Given the description of an element on the screen output the (x, y) to click on. 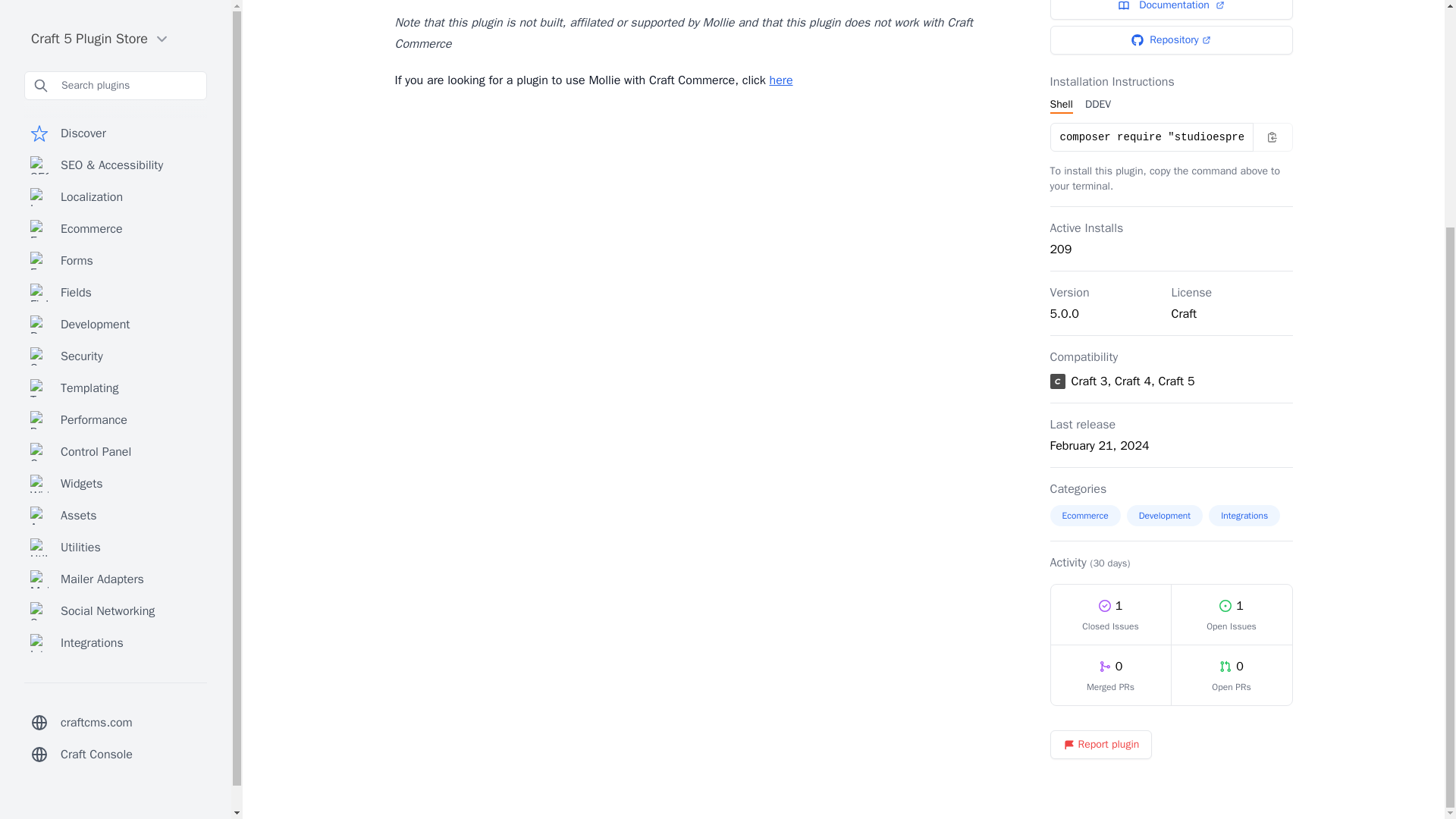
Templating (115, 82)
Performance (115, 114)
Integrations (1243, 515)
Security plugins for Craft CMS (115, 51)
Mailer Adapters (115, 274)
Development (115, 19)
here (781, 79)
Utilities (115, 242)
Ecommerce (1084, 515)
Templating plugins for Craft CMS (115, 82)
Shell (1060, 105)
Social Networking (115, 306)
Development plugins for Craft CMS (115, 19)
Widgets plugins for Craft CMS (115, 178)
Documentation (1170, 9)
